Given the description of an element on the screen output the (x, y) to click on. 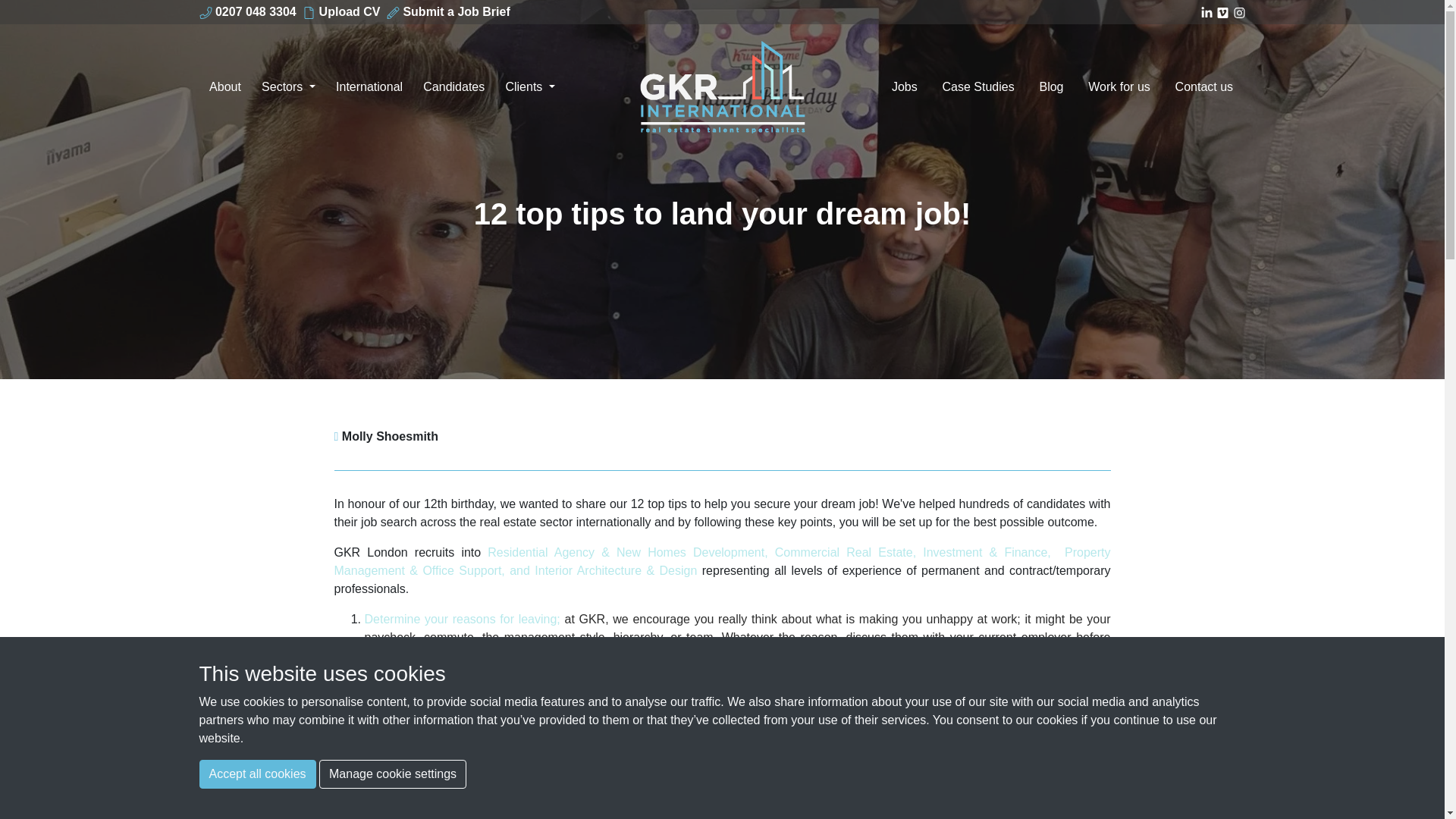
Candidates (454, 86)
International (369, 86)
Case Studies (978, 86)
Clients (529, 86)
Sectors (288, 86)
linkedin (1207, 11)
About (224, 86)
Blog (1051, 86)
Case Studies (978, 86)
Clients (529, 86)
vimeo (1223, 11)
Contact us (1203, 86)
Blog (1051, 86)
Upload CV (339, 11)
About (224, 86)
